Given the description of an element on the screen output the (x, y) to click on. 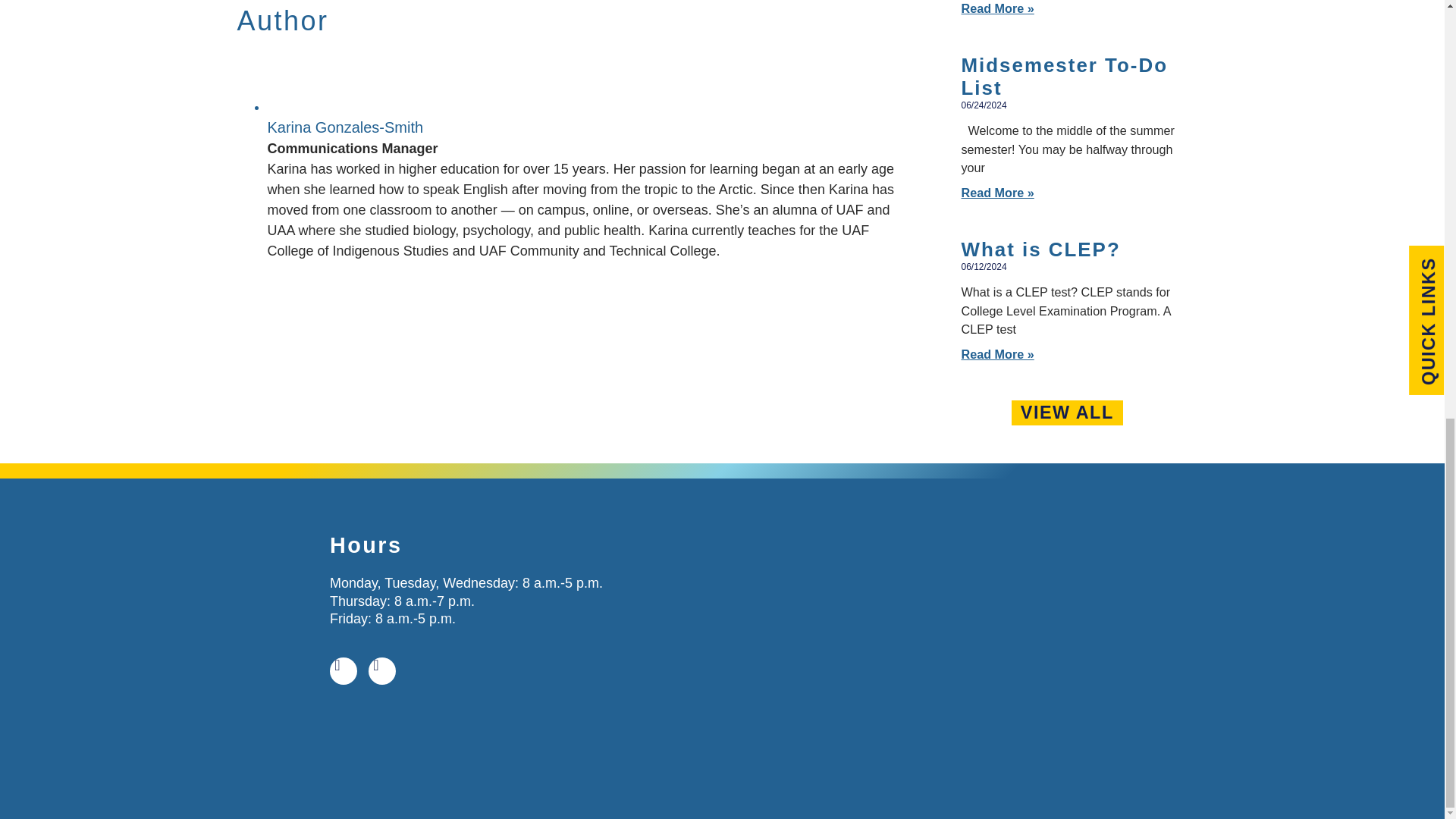
Karina Gonzales-Smith (344, 126)
